Given the description of an element on the screen output the (x, y) to click on. 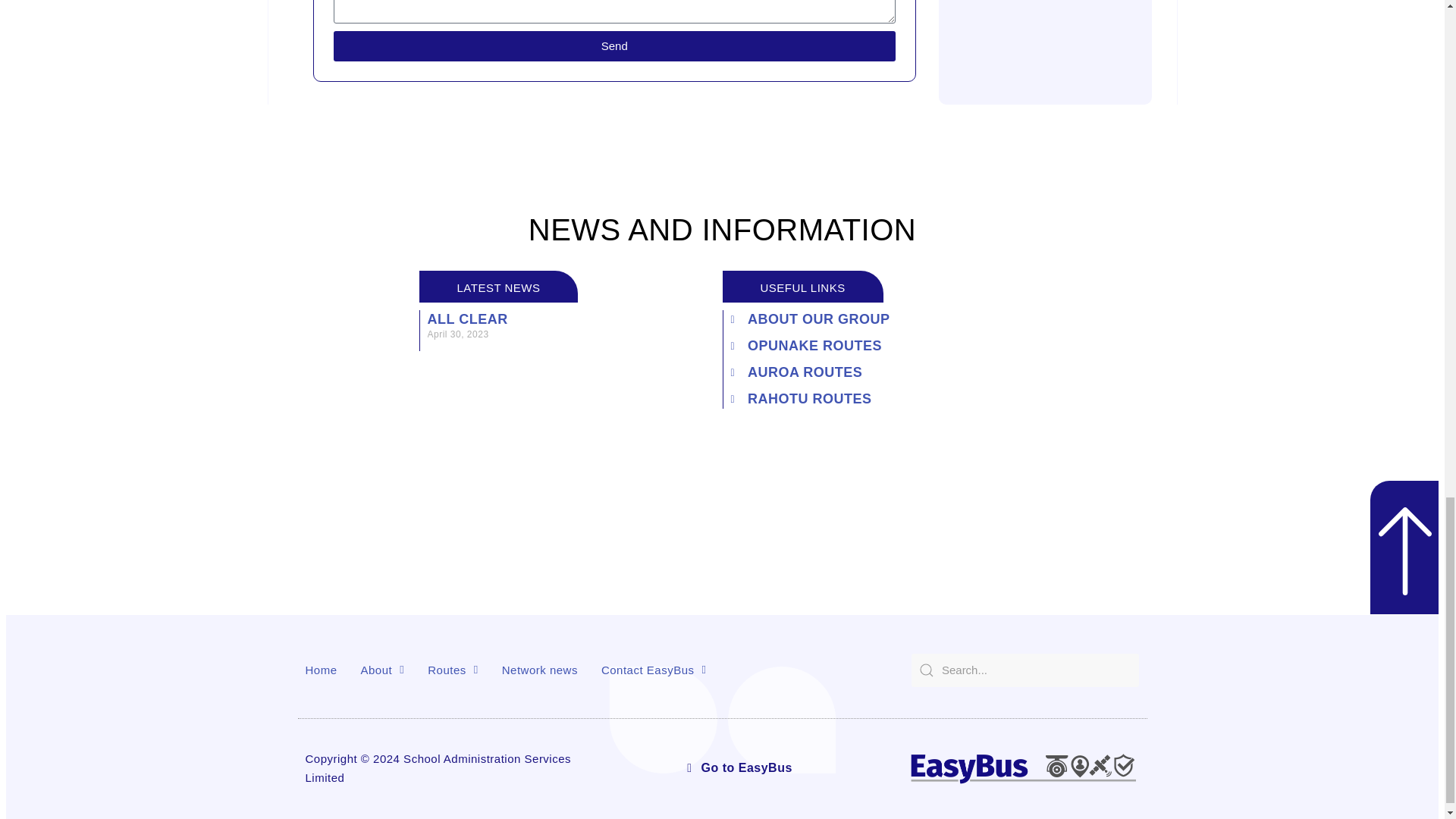
Search (1024, 670)
